Given the description of an element on the screen output the (x, y) to click on. 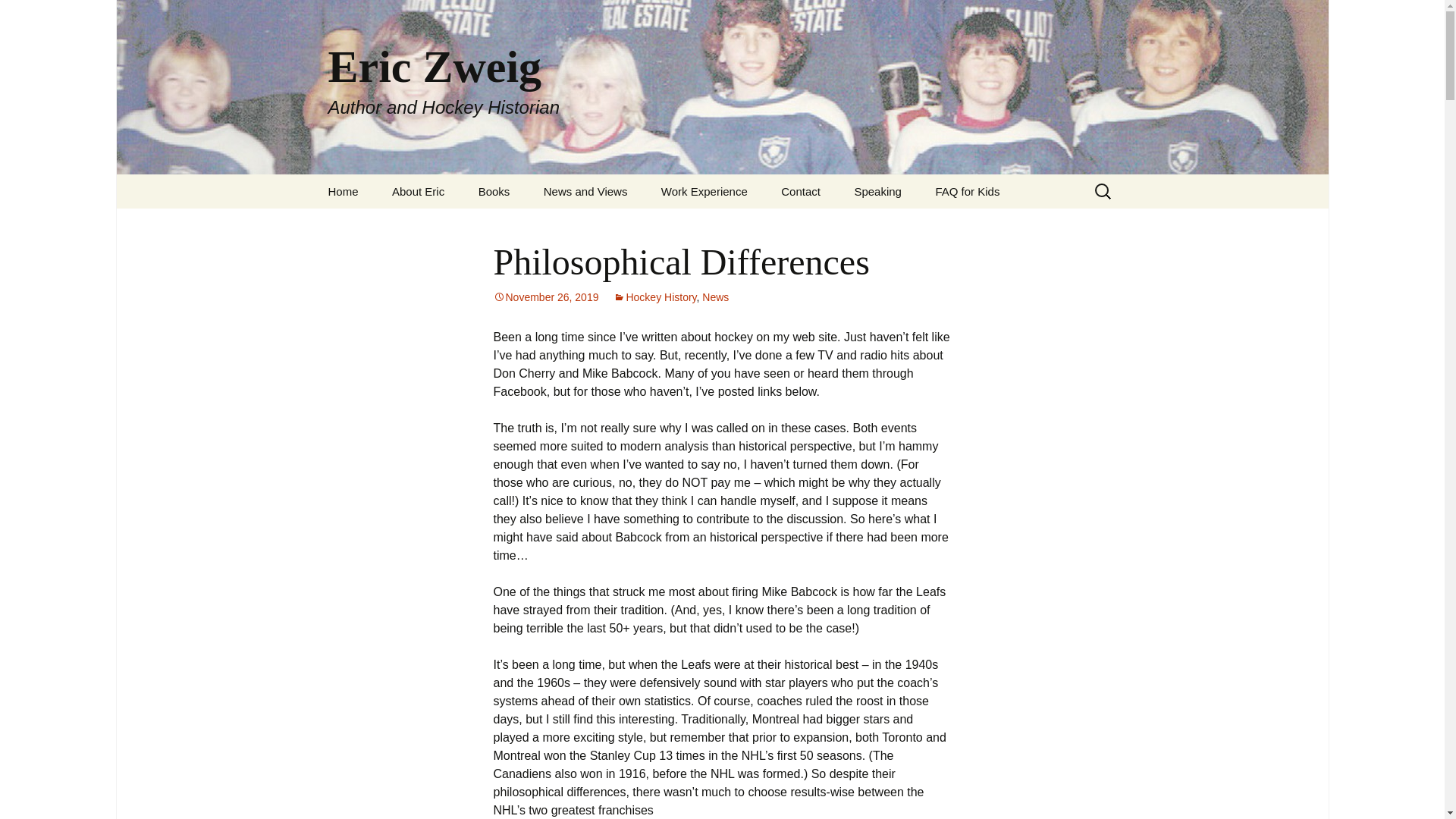
FAQ for Kids (967, 191)
Contact (800, 191)
Permalink to Philosophical Differences (545, 297)
Books (18, 15)
Hockey History (494, 191)
Speaking (653, 297)
About Eric (877, 191)
Search (418, 191)
